Given the description of an element on the screen output the (x, y) to click on. 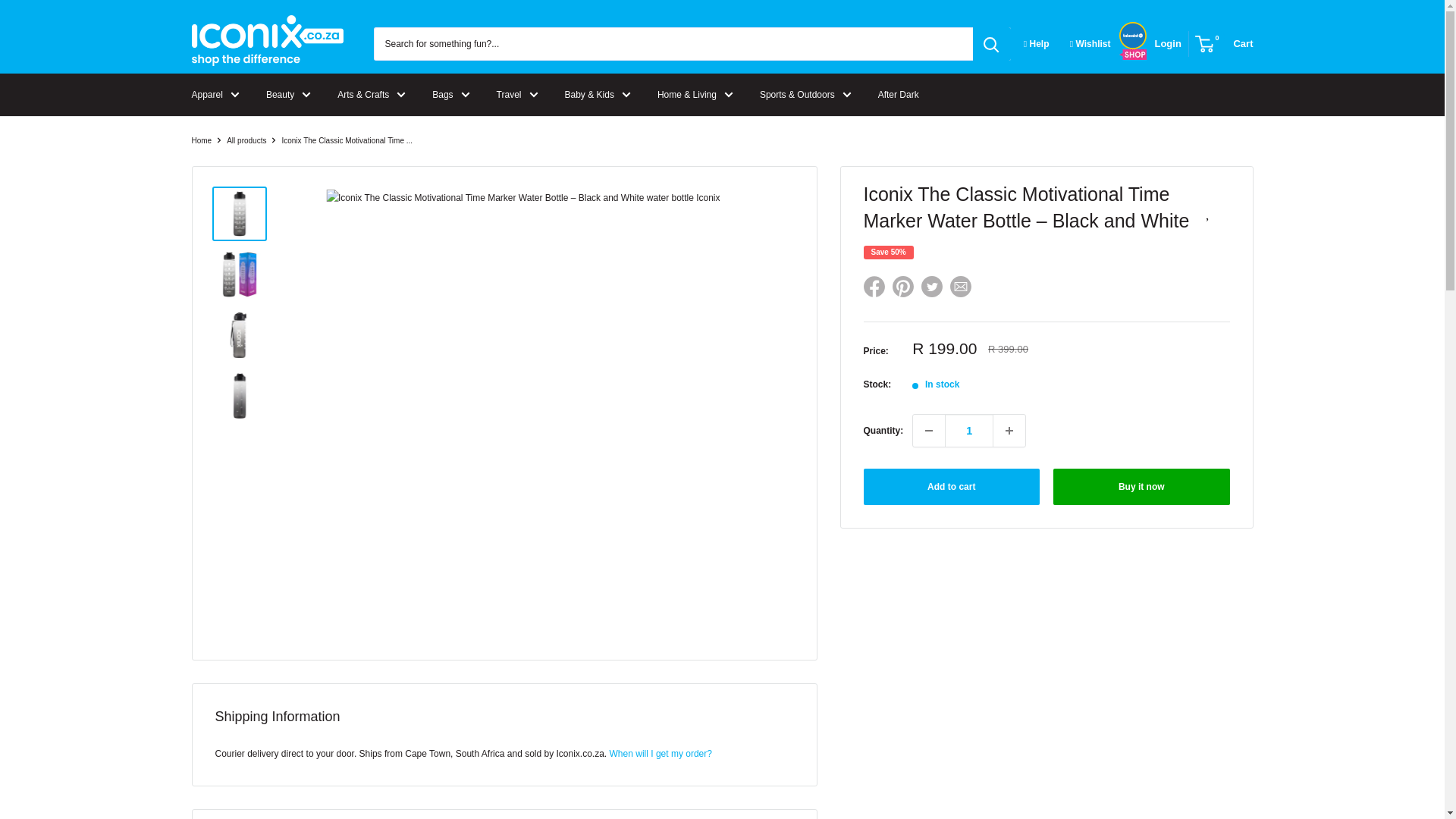
Shipping Information (660, 753)
1 (968, 430)
Decrease quantity by 1 (928, 430)
Increase quantity by 1 (1008, 430)
Go to your wishlist (1090, 43)
